Given the description of an element on the screen output the (x, y) to click on. 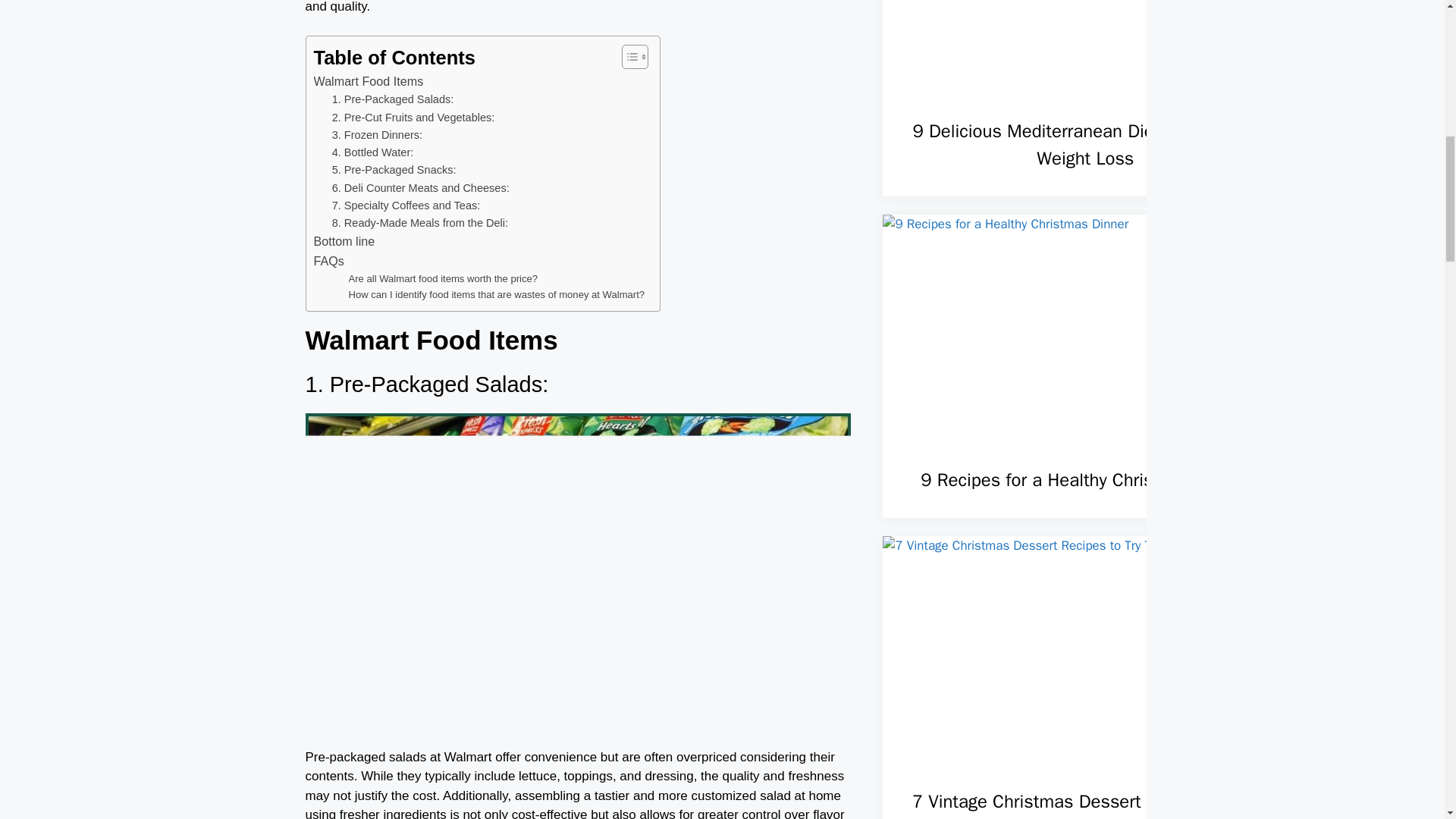
Walmart Food Items (368, 81)
7. Specialty Coffees and Teas: (405, 205)
8. Ready-Made Meals from the Deli: (419, 222)
Are all Walmart food items worth the price? (443, 279)
Bottom line (344, 241)
3. Frozen Dinners: (376, 135)
1. Pre-Packaged Salads: (392, 99)
5. Pre-Packaged Snacks: (394, 170)
8. Ready-Made Meals from the Deli: (419, 222)
